Given the description of an element on the screen output the (x, y) to click on. 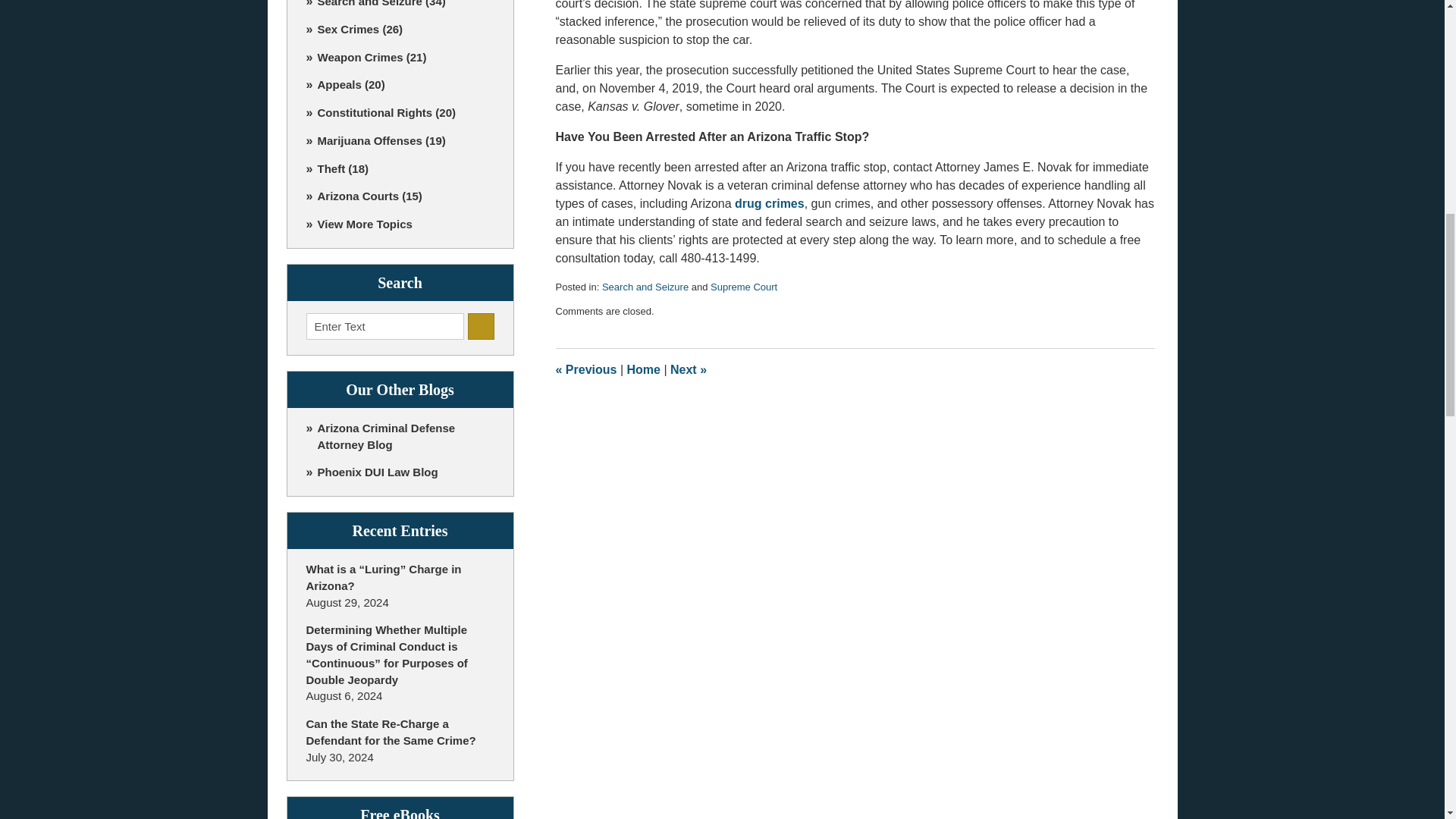
Search and Seizure (645, 286)
Home (642, 369)
View all posts in Search and Seizure (645, 286)
Supreme Court (743, 286)
View all posts in Supreme Court (743, 286)
drug crimes (770, 203)
